Given the description of an element on the screen output the (x, y) to click on. 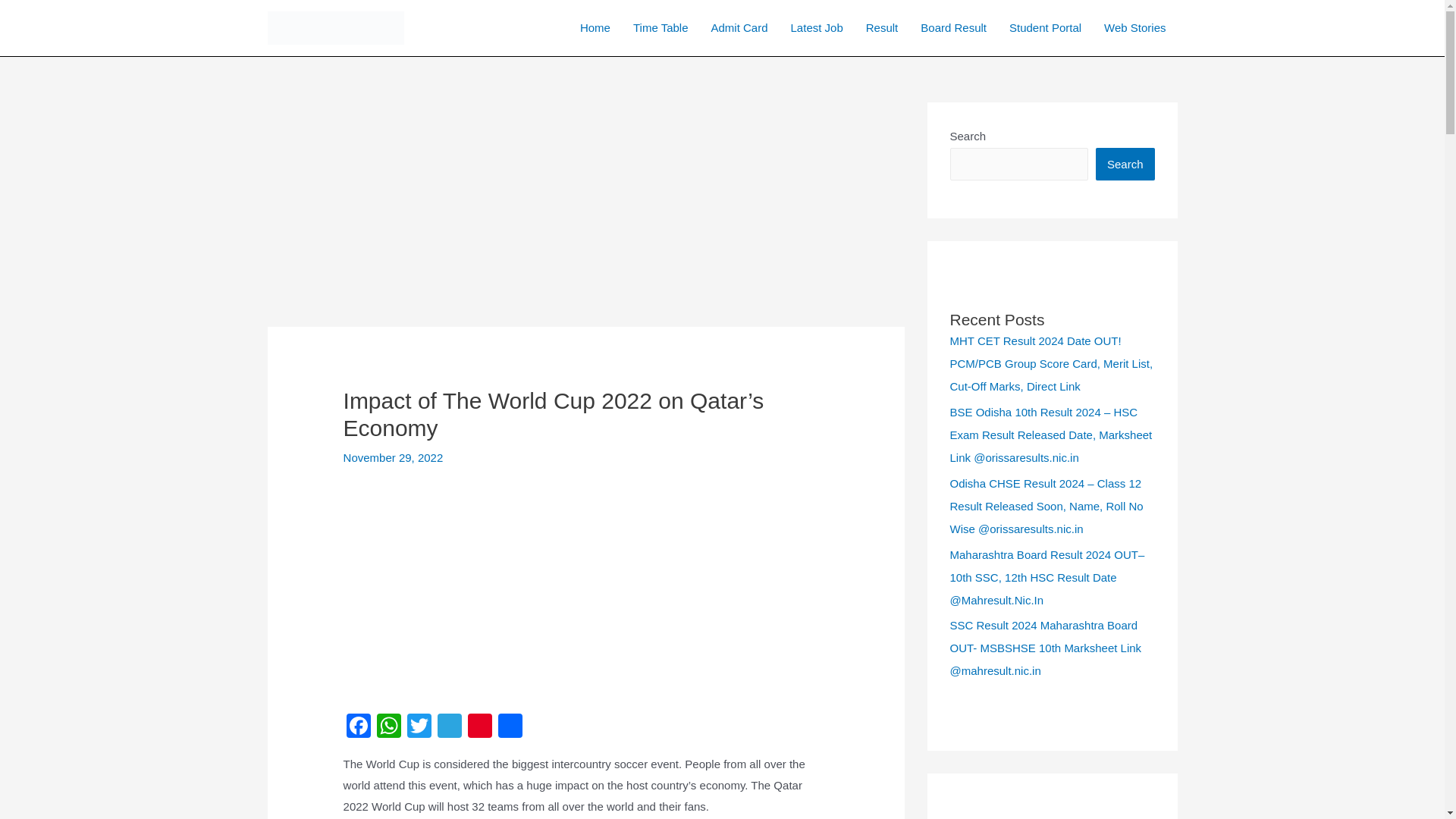
Telegram (448, 727)
WhatsApp (389, 727)
Pinterest (479, 727)
Board Result (952, 27)
Facebook (358, 727)
Twitter (418, 727)
Time Table (660, 27)
Web Stories (1134, 27)
Pinterest (479, 727)
WhatsApp (389, 727)
